Given the description of an element on the screen output the (x, y) to click on. 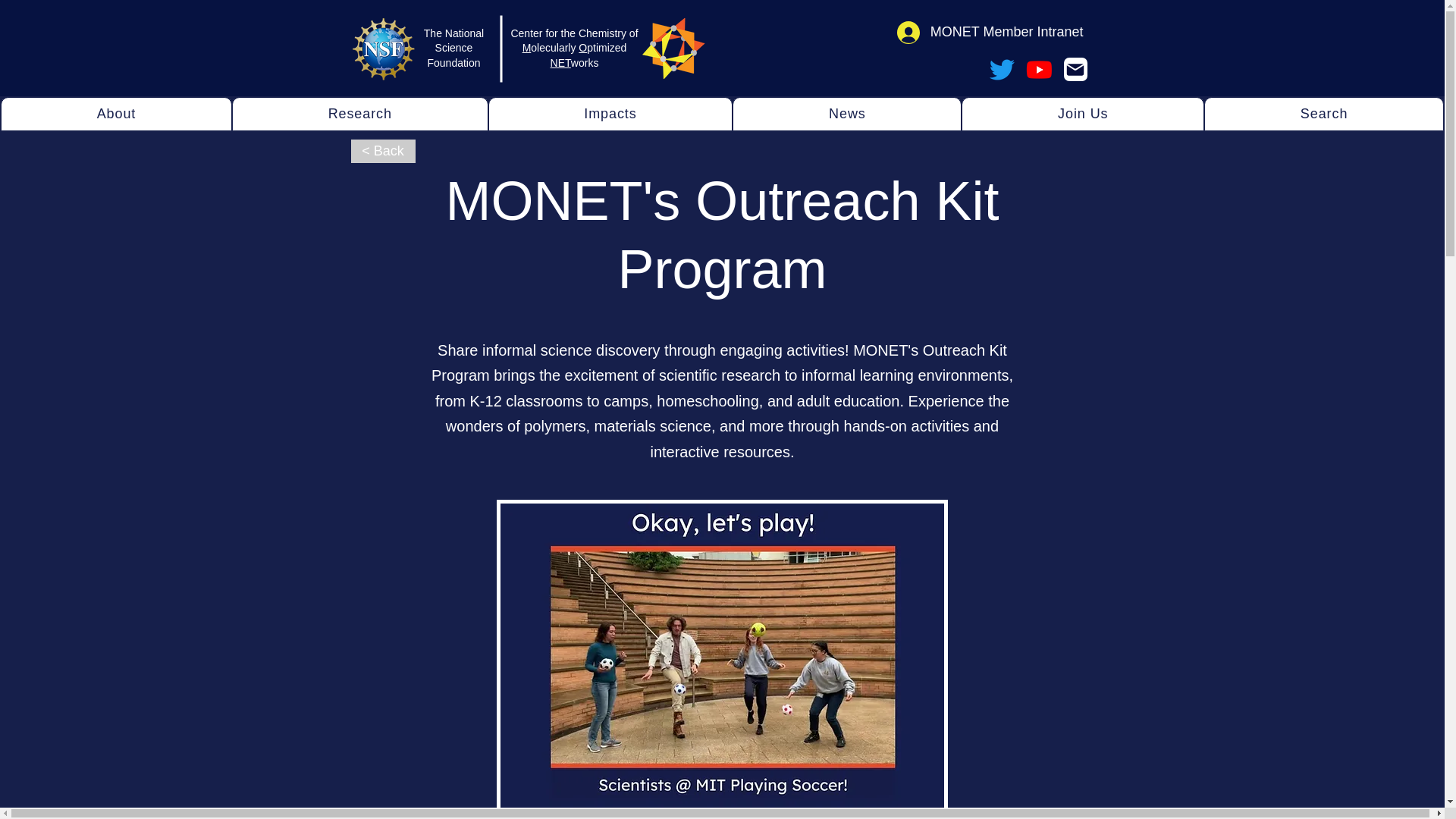
MONET Member Intranet (990, 32)
Center for the Chemistry of Molecularly Optimized NETworks (722, 113)
Search (574, 47)
News (1324, 114)
